Given the description of an element on the screen output the (x, y) to click on. 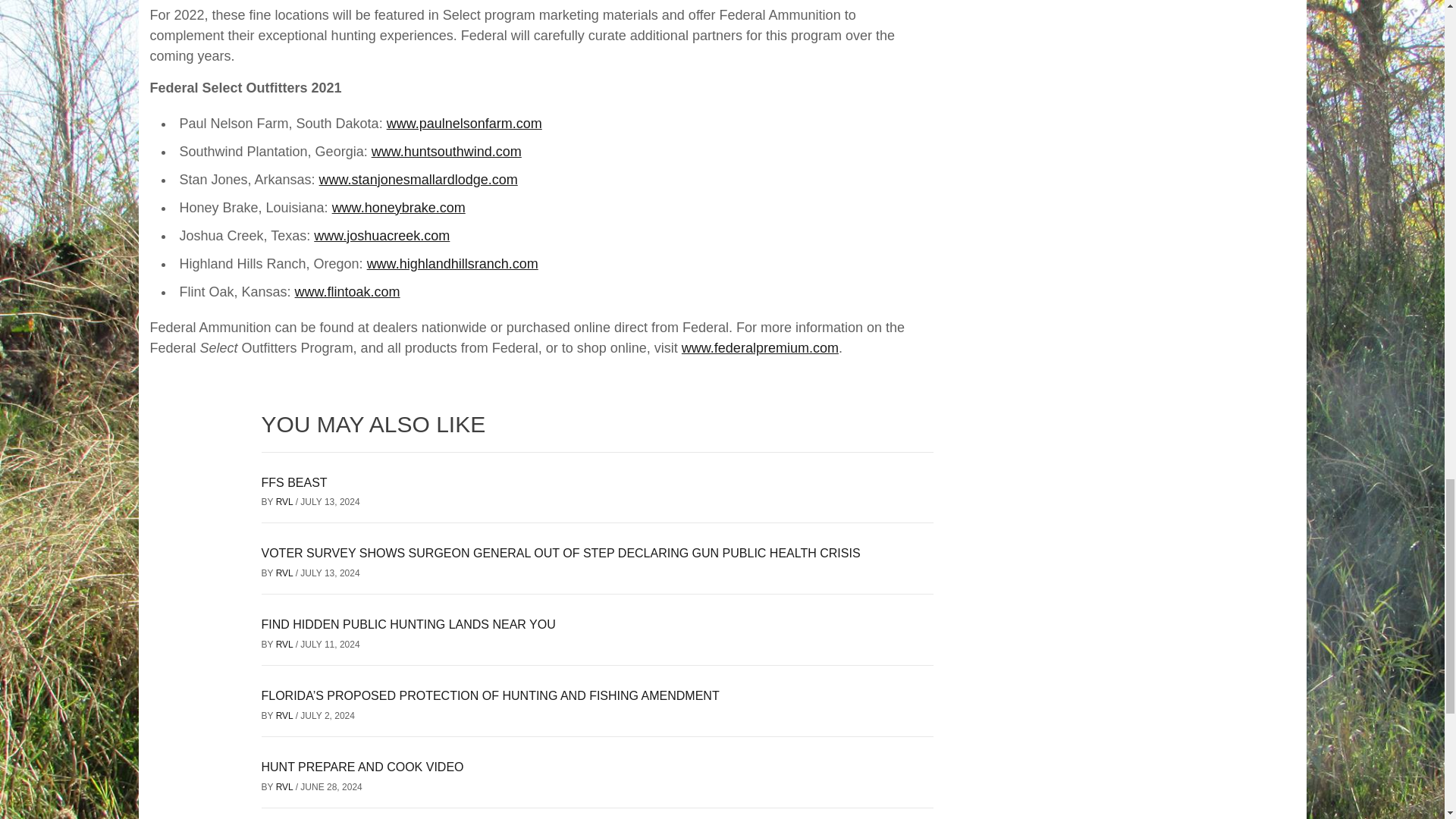
www.paulnelsonfarm.com (464, 123)
RVL (285, 501)
FIND HIDDEN PUBLIC HUNTING LANDS NEAR YOU (407, 624)
www.highlandhillsranch.com (452, 263)
RVL (285, 573)
FFS BEAST (293, 481)
www.stanjonesmallardlodge.com (418, 179)
RVL (285, 715)
www.honeybrake.com (398, 207)
www.flintoak.com (347, 291)
www.huntsouthwind.com (446, 151)
RVL (285, 644)
www.federalpremium.com (759, 347)
HUNT PREPARE AND COOK VIDEO (361, 766)
